Given the description of an element on the screen output the (x, y) to click on. 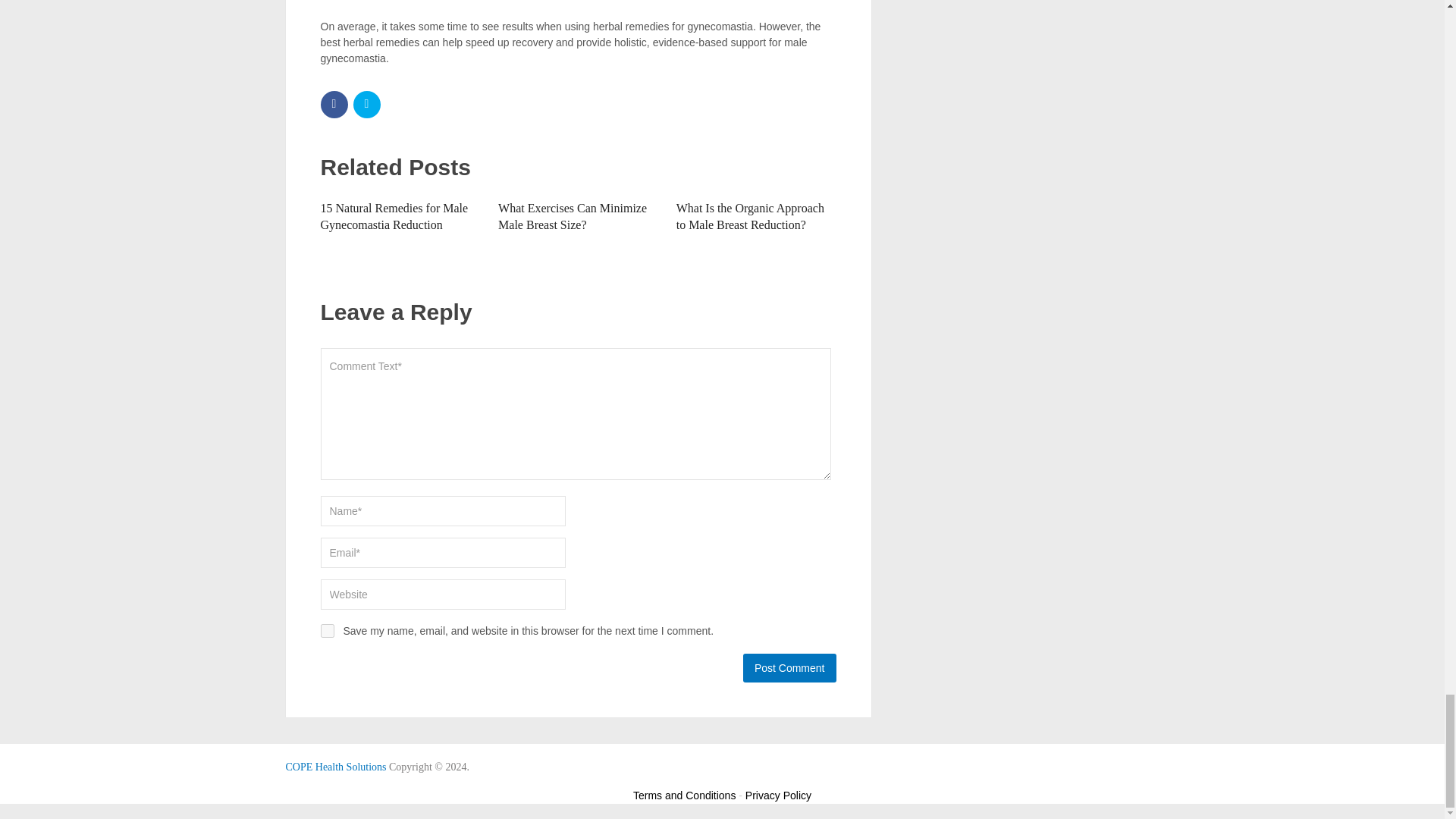
What Exercises Can Minimize Male Breast Size? (571, 215)
What Is the Organic Approach to Male Breast Reduction? (750, 215)
What Is the Organic Approach to Male Breast Reduction? (750, 215)
Post Comment (788, 667)
15 Natural Remedies for Male Gynecomastia Reduction (393, 215)
15 Natural Remedies for Male Gynecomastia Reduction (393, 215)
yes (326, 631)
Post Comment (788, 667)
What Exercises Can Minimize Male Breast Size? (571, 215)
